Given the description of an element on the screen output the (x, y) to click on. 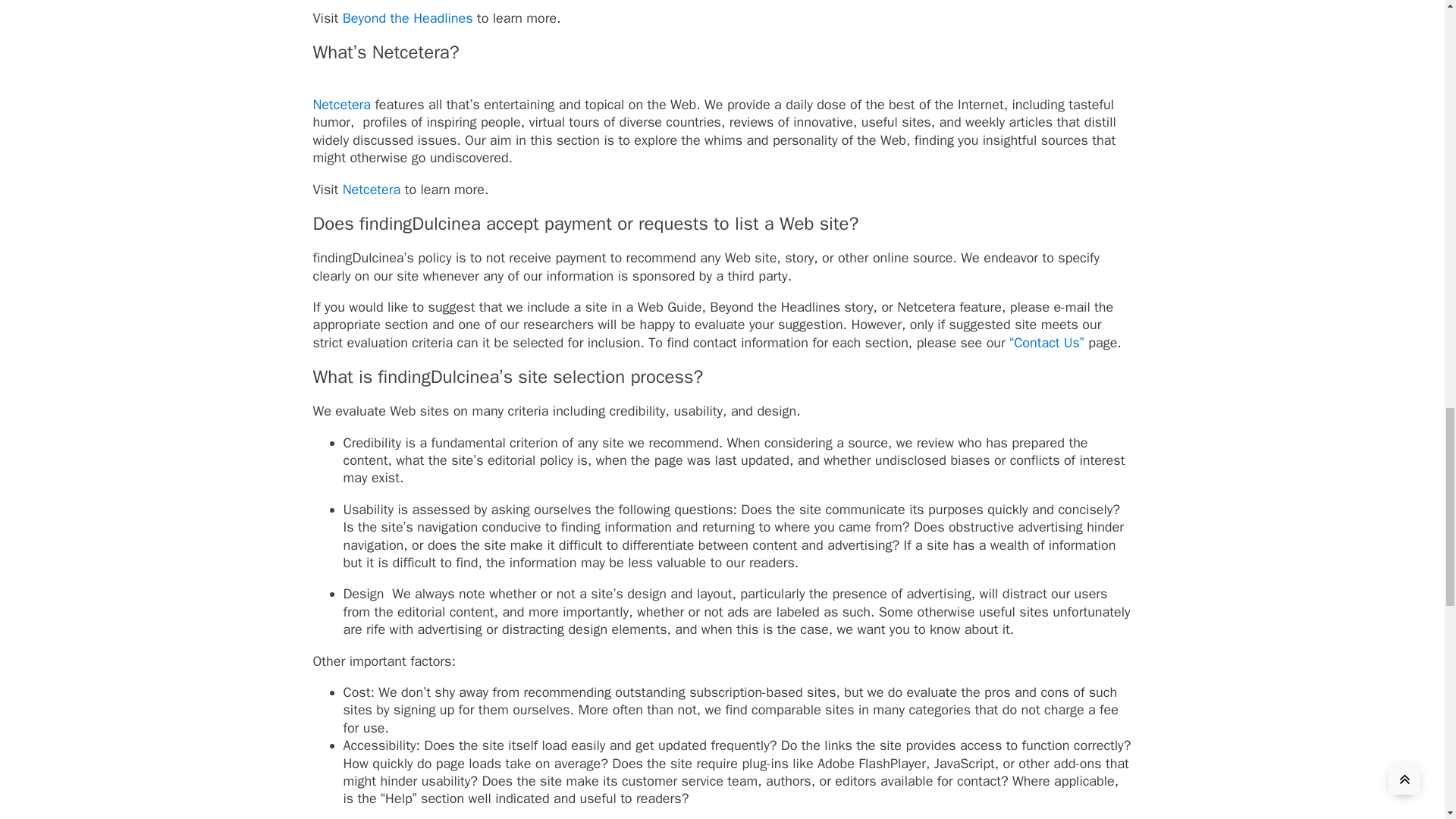
Netcetera (371, 189)
Netcetera (342, 113)
Beyond the Headlines (407, 17)
